Given the description of an element on the screen output the (x, y) to click on. 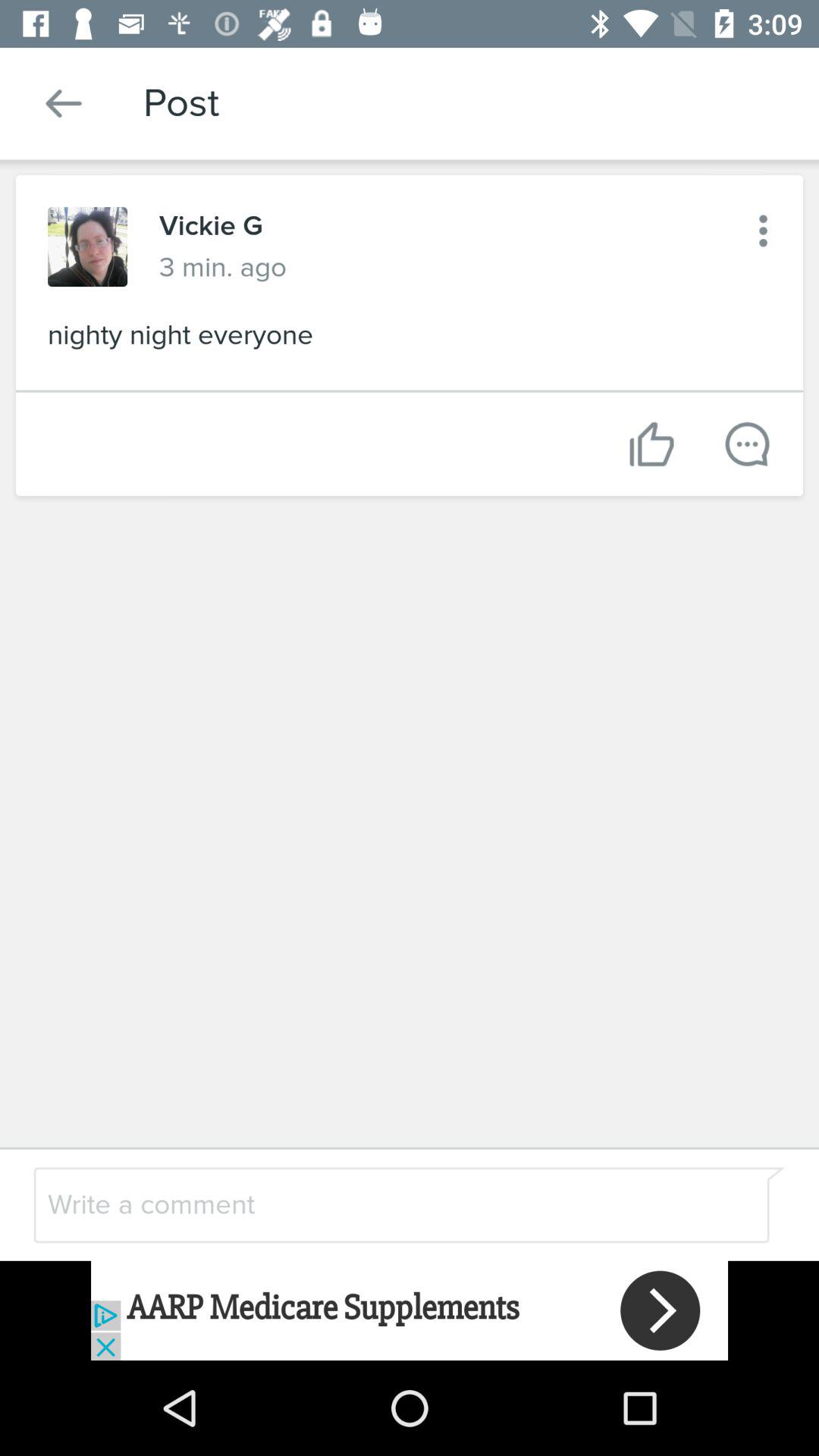
write comment (369, 1204)
